Given the description of an element on the screen output the (x, y) to click on. 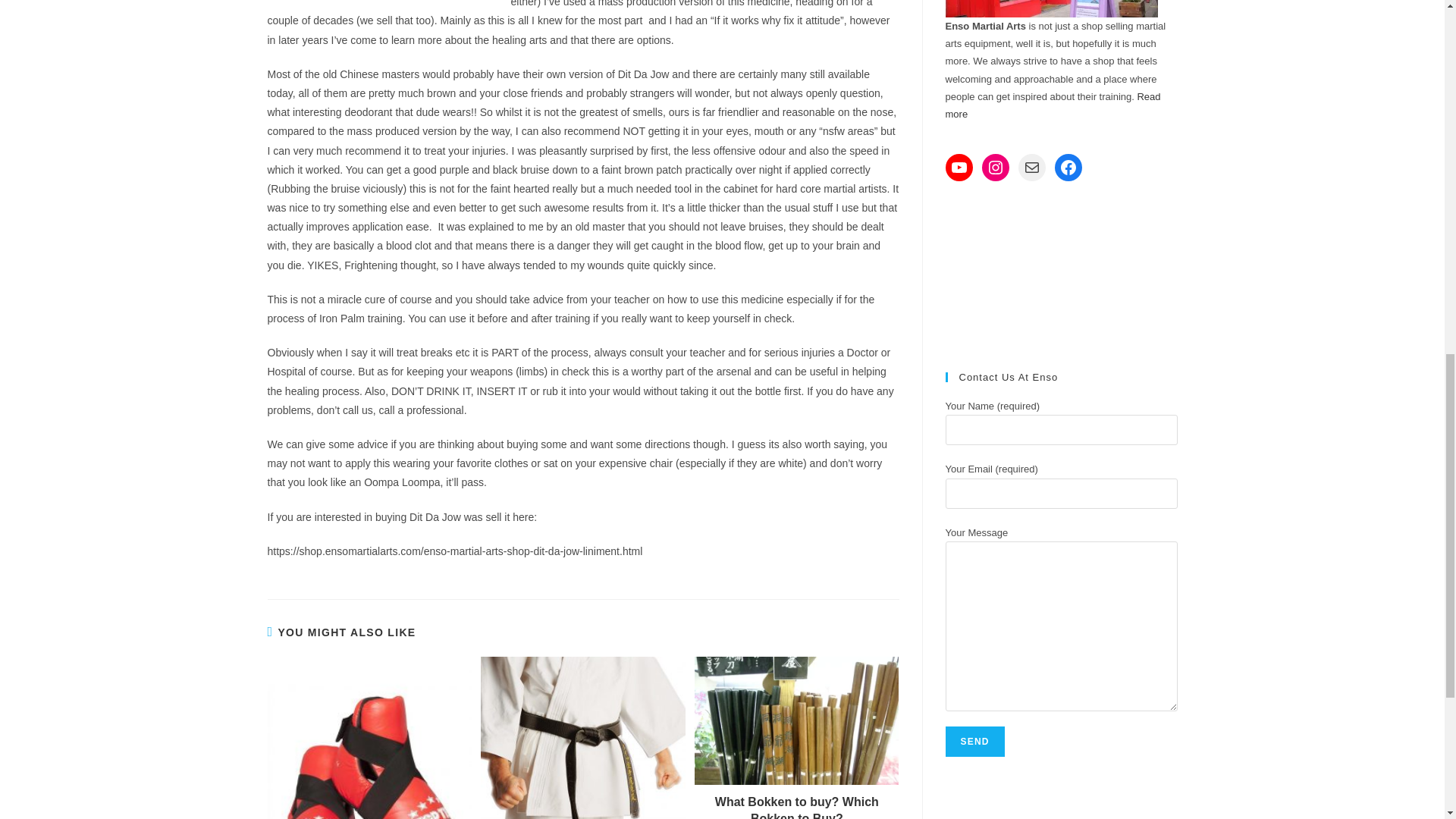
Send (974, 741)
